Given the description of an element on the screen output the (x, y) to click on. 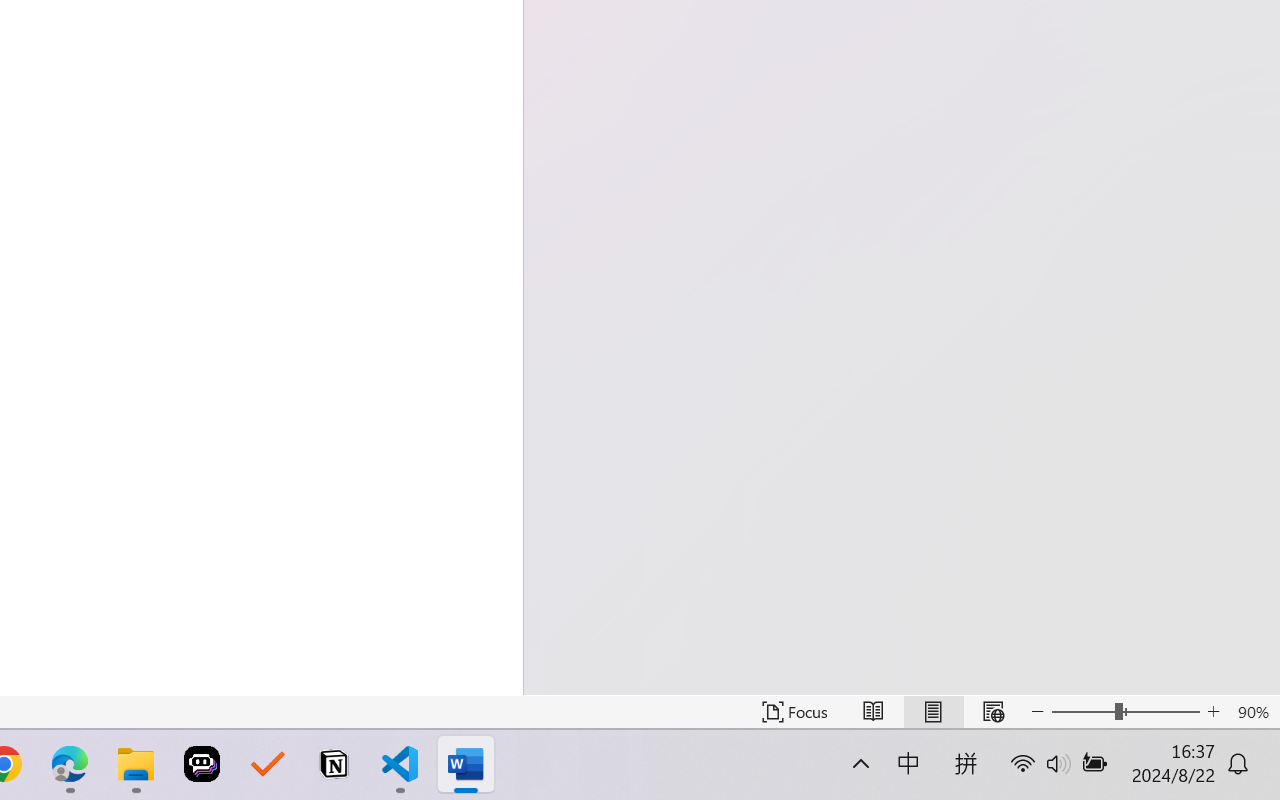
Zoom 90% (1253, 712)
